Given the description of an element on the screen output the (x, y) to click on. 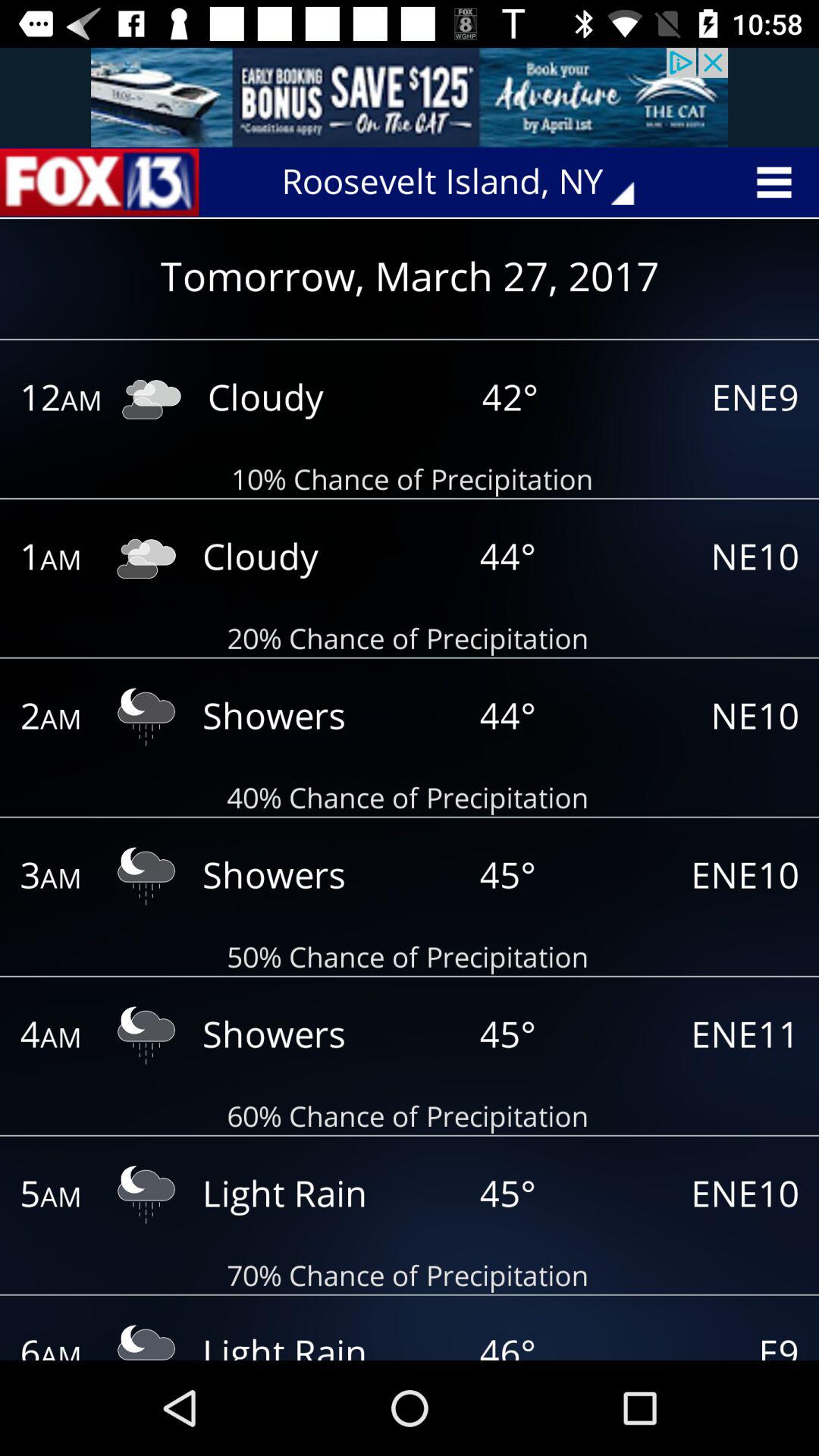
news page (99, 182)
